Given the description of an element on the screen output the (x, y) to click on. 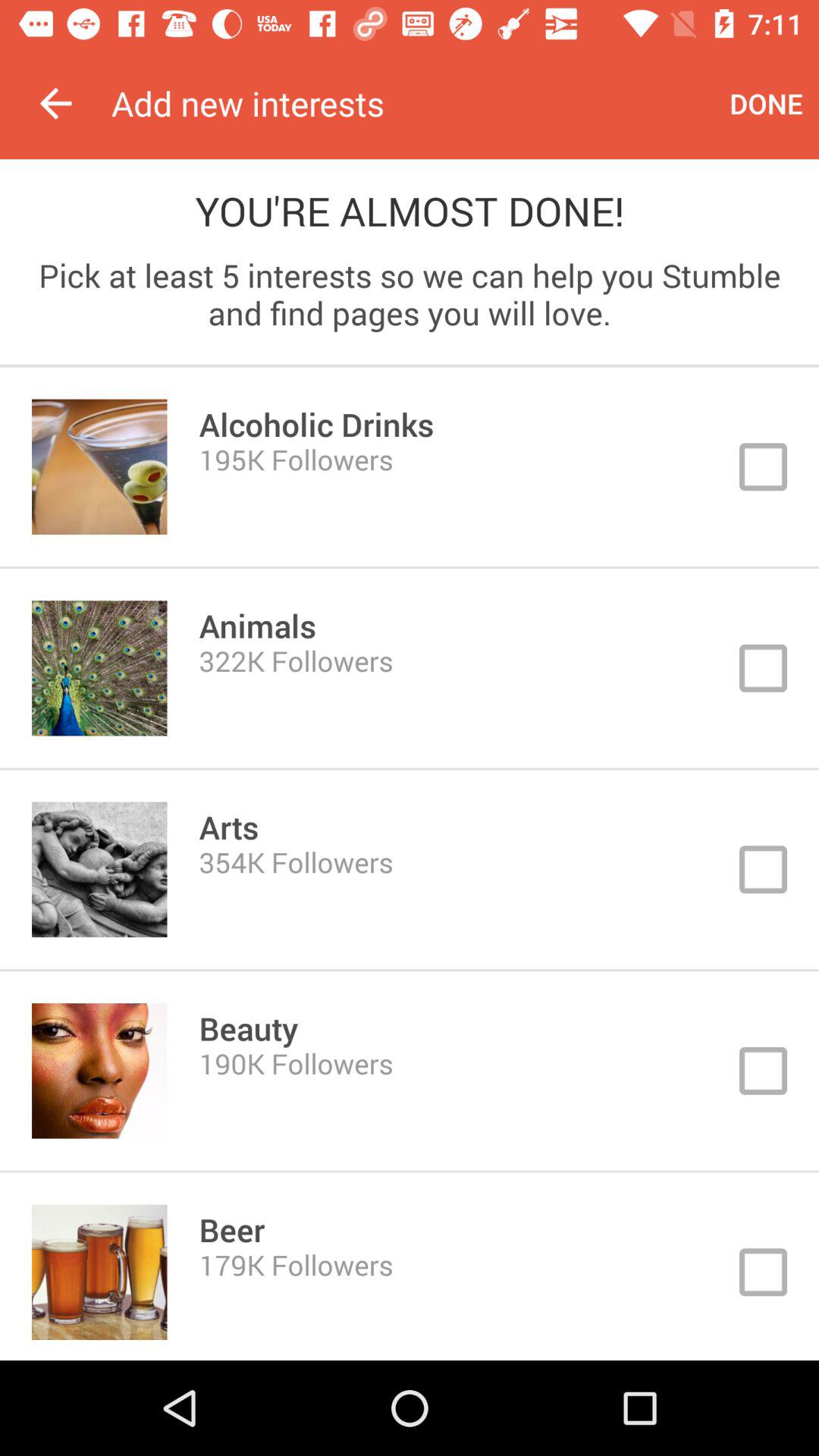
select animals (409, 667)
